Given the description of an element on the screen output the (x, y) to click on. 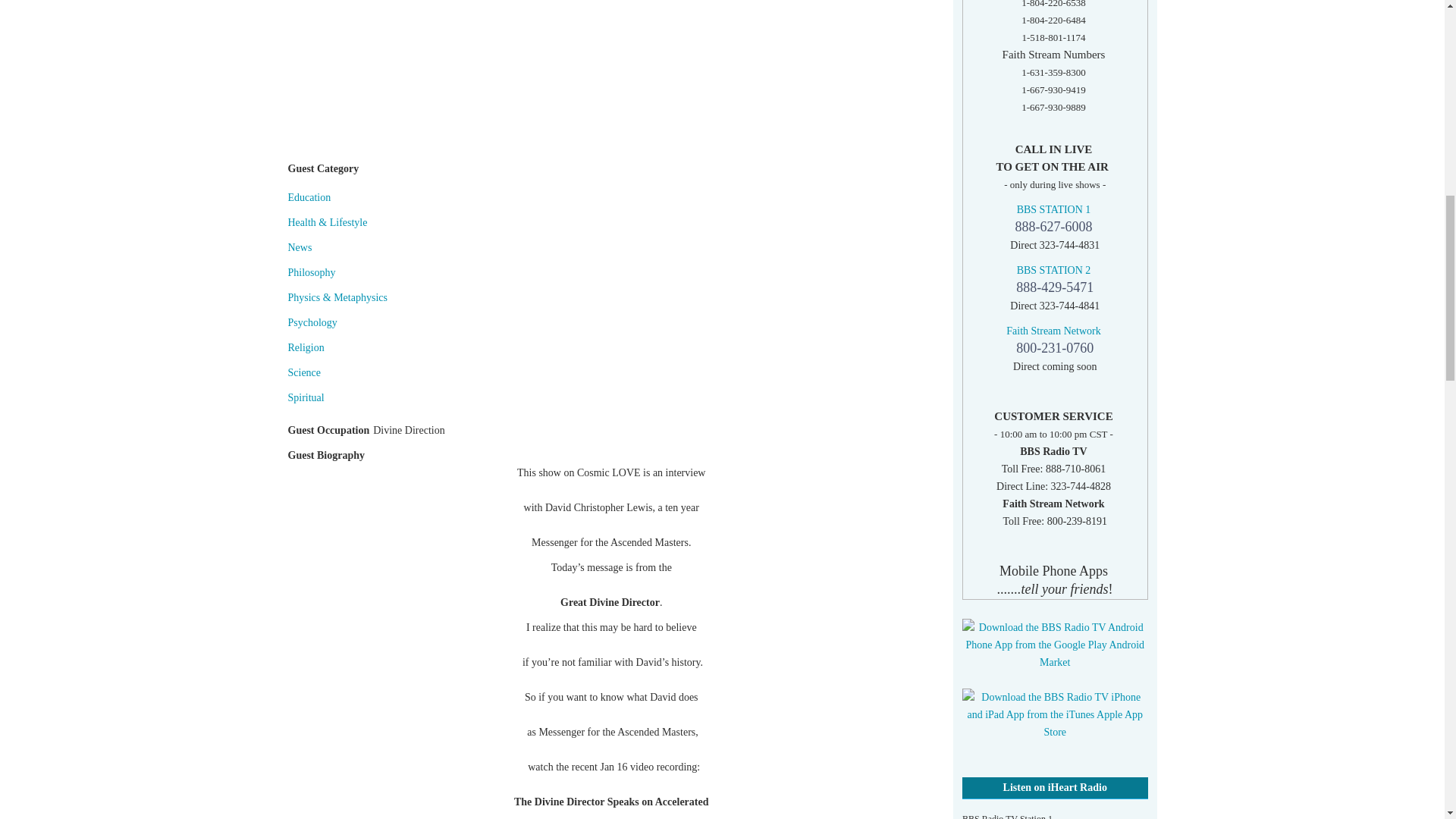
Divine Director (611, 63)
